Given the description of an element on the screen output the (x, y) to click on. 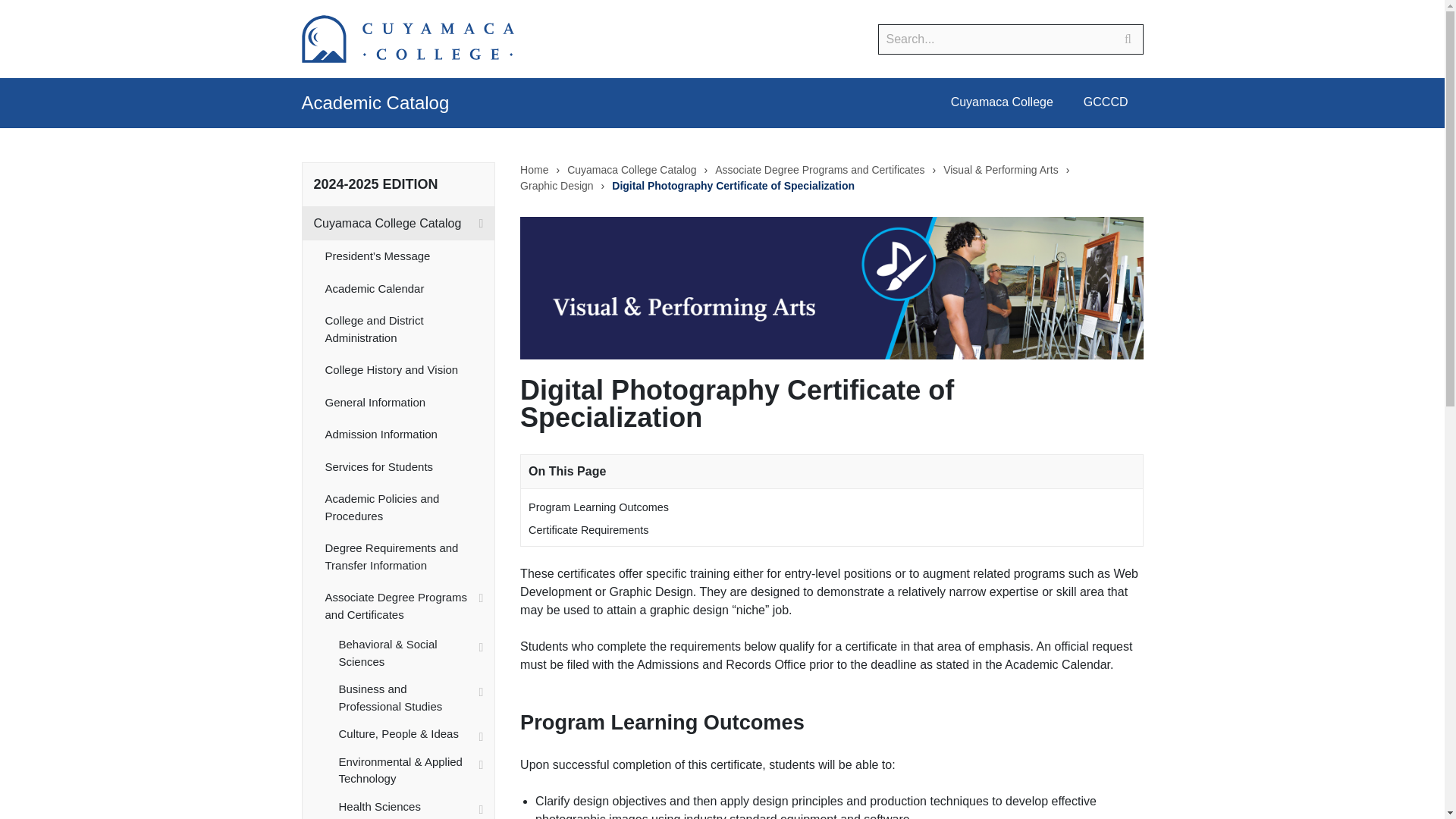
General Information (408, 402)
Cuyamaca College Catalog (397, 223)
Submit search (1127, 39)
2024-2025 EDITION (376, 183)
College and District Administration (408, 328)
Degree Requirements and Transfer Information (408, 556)
Academic Catalog (375, 102)
Academic Calendar (408, 288)
College History and Vision (408, 369)
Cuyamaca College (1002, 102)
Associate Degree Programs and Certificates (408, 605)
Academic Policies and Procedures (408, 507)
GCCCD (1105, 102)
Admission Information (408, 434)
Services for Students (408, 466)
